Given the description of an element on the screen output the (x, y) to click on. 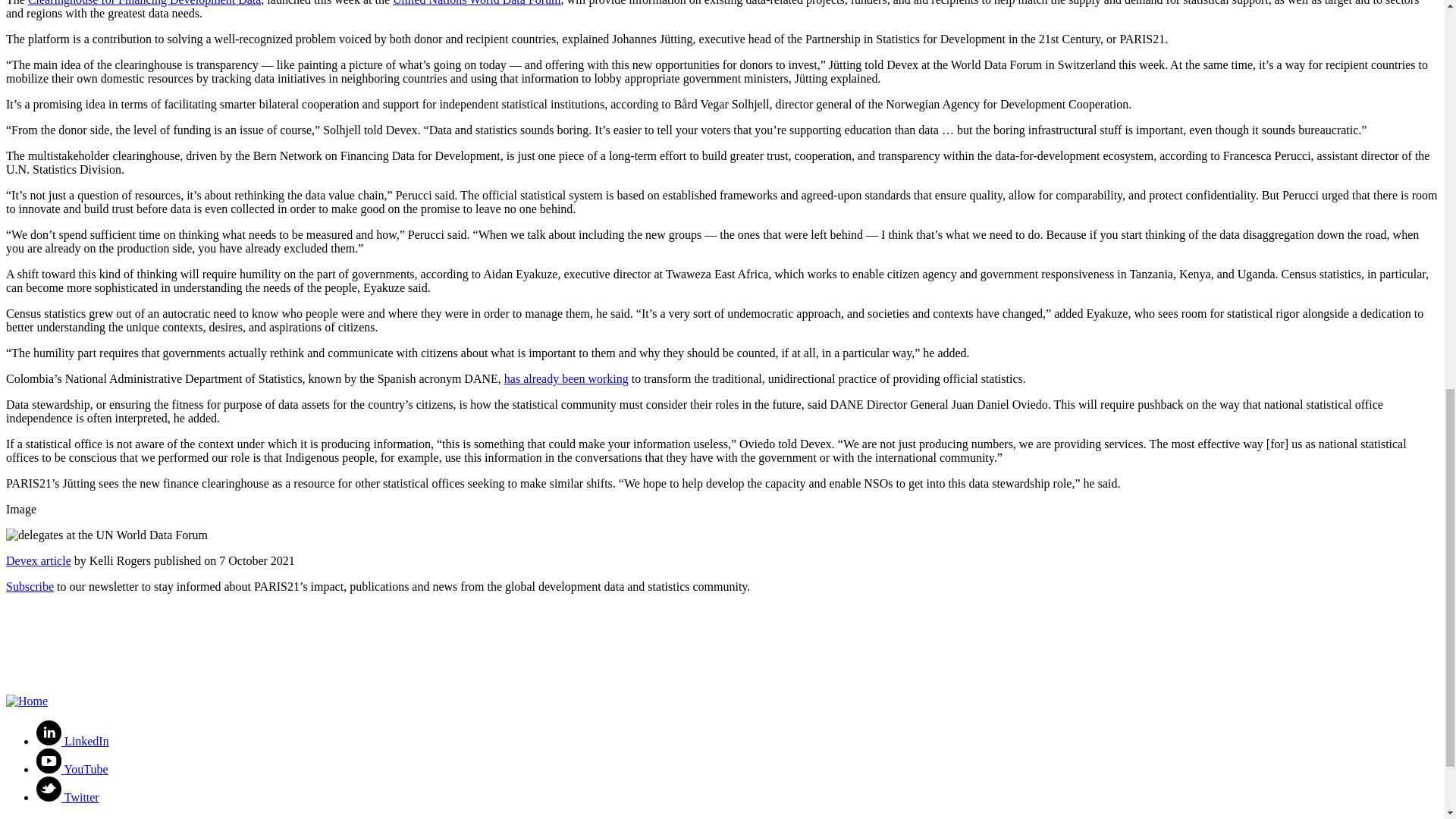
Twitter (67, 797)
LinkedIn (72, 740)
United Nations World Data Forum (476, 2)
Clearinghouse for Financing Development Data (143, 2)
Subscribe (29, 585)
YouTube (71, 768)
has already been working (565, 378)
Devex article (38, 560)
